Given the description of an element on the screen output the (x, y) to click on. 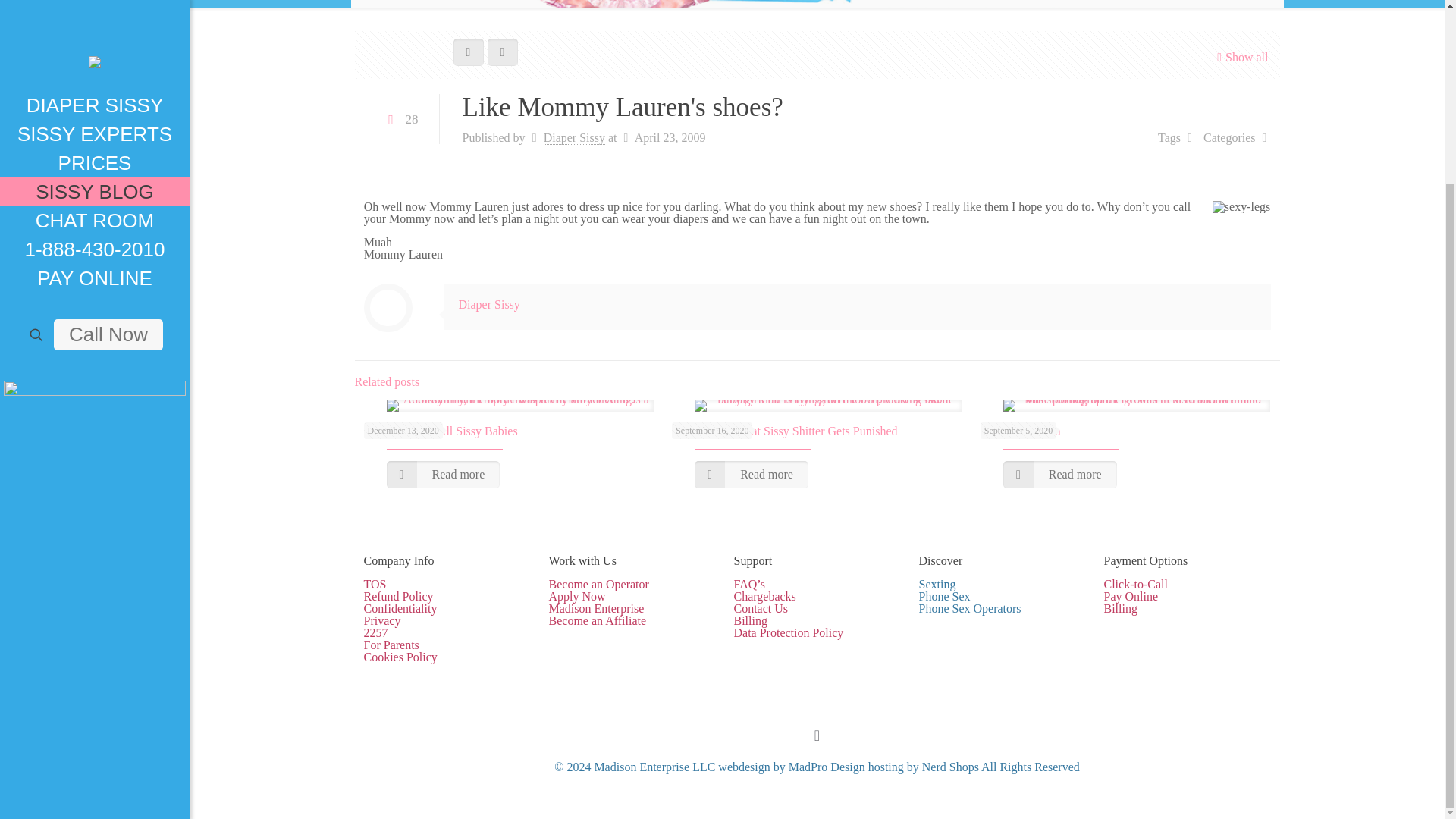
Diaper Sissy (574, 137)
Call Now (108, 107)
Diaper Sissy (488, 304)
Show all (1240, 57)
A Reminder to All Sissy Babies (441, 431)
1-888-430-2010 (94, 22)
CHAT ROOM (94, 4)
28 (400, 119)
PAY ONLINE (94, 51)
